Given the description of an element on the screen output the (x, y) to click on. 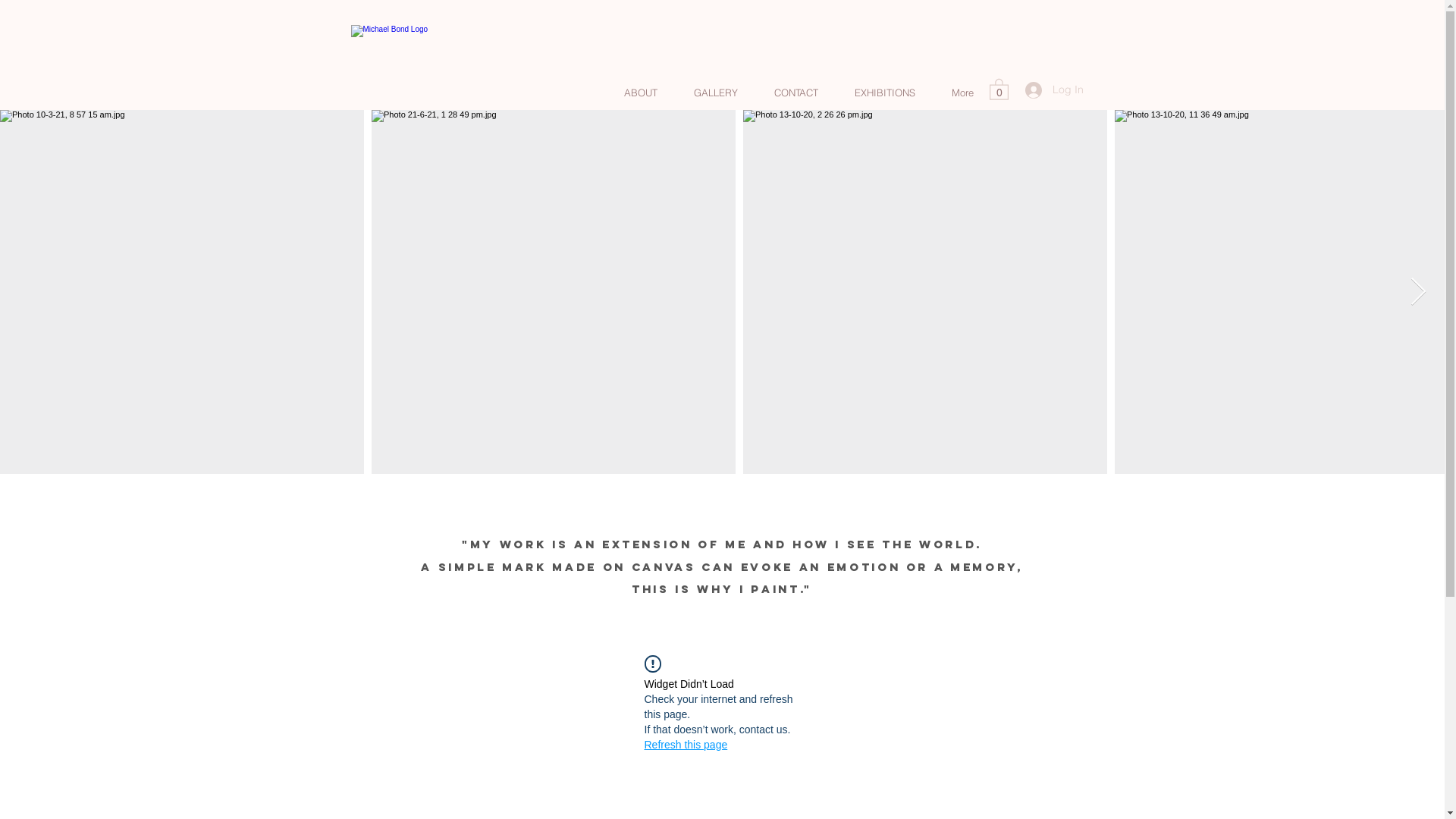
Refresh this page Element type: text (686, 744)
0 Element type: text (997, 88)
ABOUT Element type: text (639, 92)
GALLERY Element type: text (714, 92)
EXHIBITIONS Element type: text (883, 92)
CONTACT Element type: text (795, 92)
Log In Element type: text (1054, 90)
TWIPLA (Visitor Analytics) Element type: hover (728, 320)
